Given the description of an element on the screen output the (x, y) to click on. 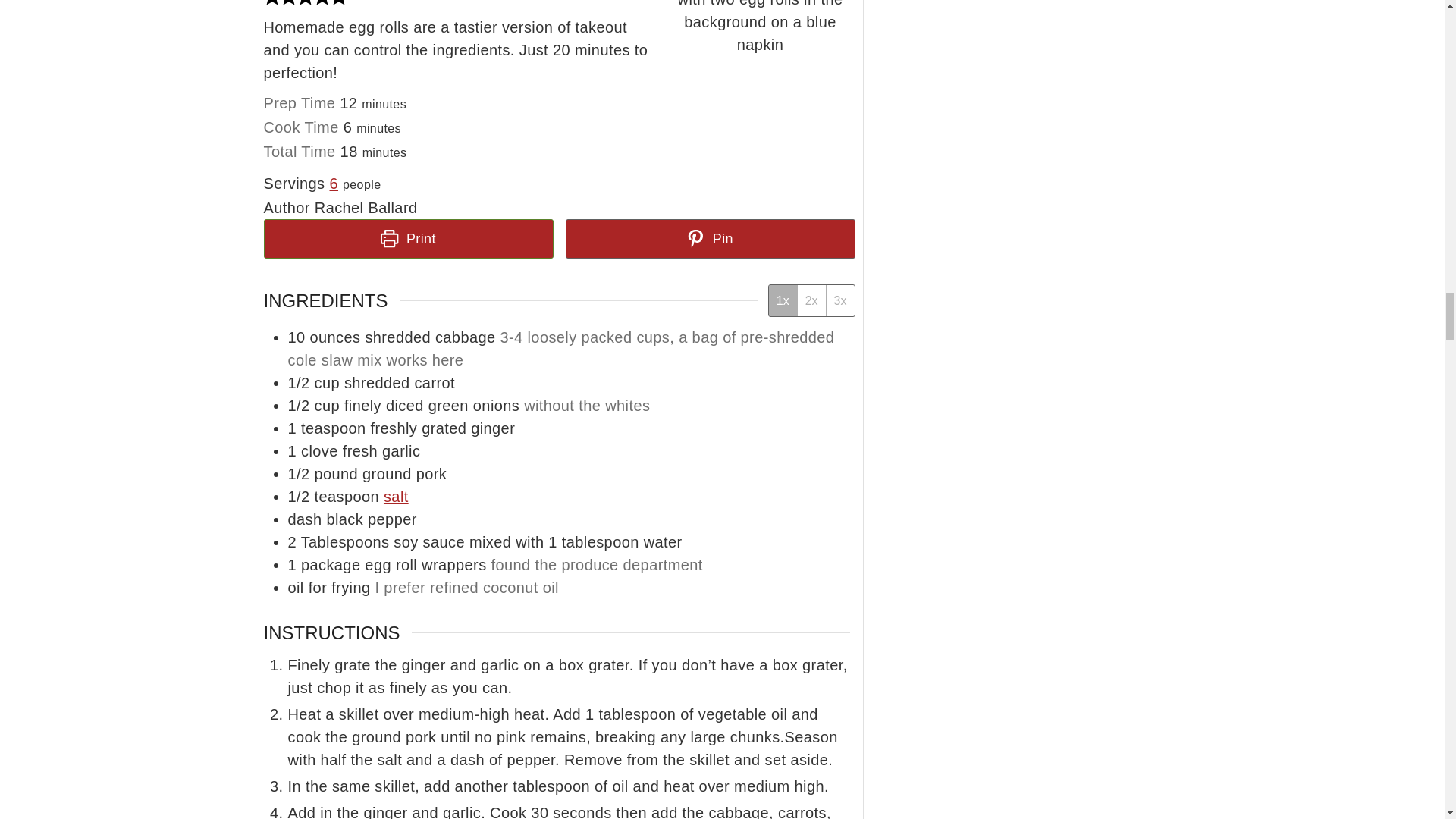
3x (839, 300)
Print (408, 238)
2x (810, 300)
1x (782, 300)
Pin (711, 238)
salt (396, 496)
